Given the description of an element on the screen output the (x, y) to click on. 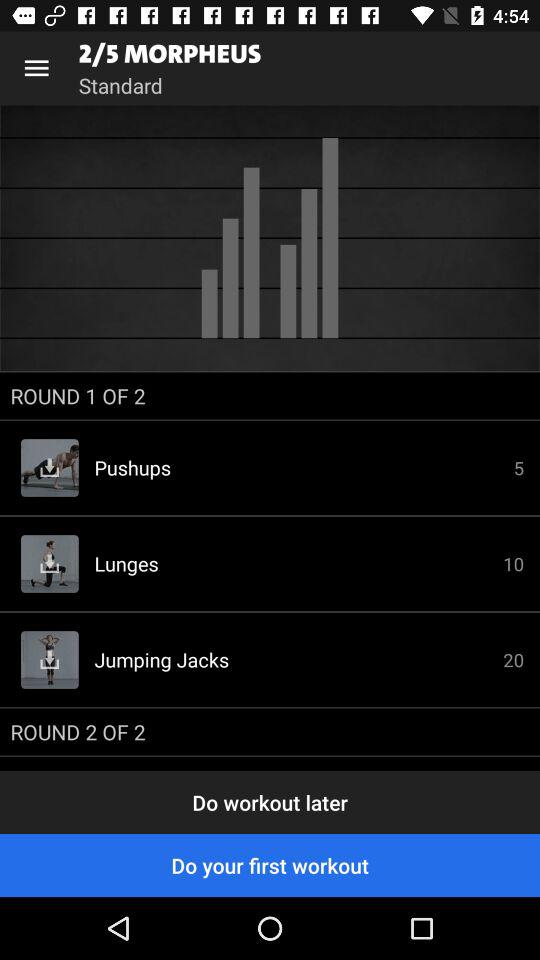
click on download icon on image which is left to text lunges (49, 563)
click on the download button which is on the left side of pushups (49, 467)
click on the third download icon which is left side of the text jumping jacks (49, 659)
click on the image which is on the left side of lunges has download button on it (49, 563)
